Given the description of an element on the screen output the (x, y) to click on. 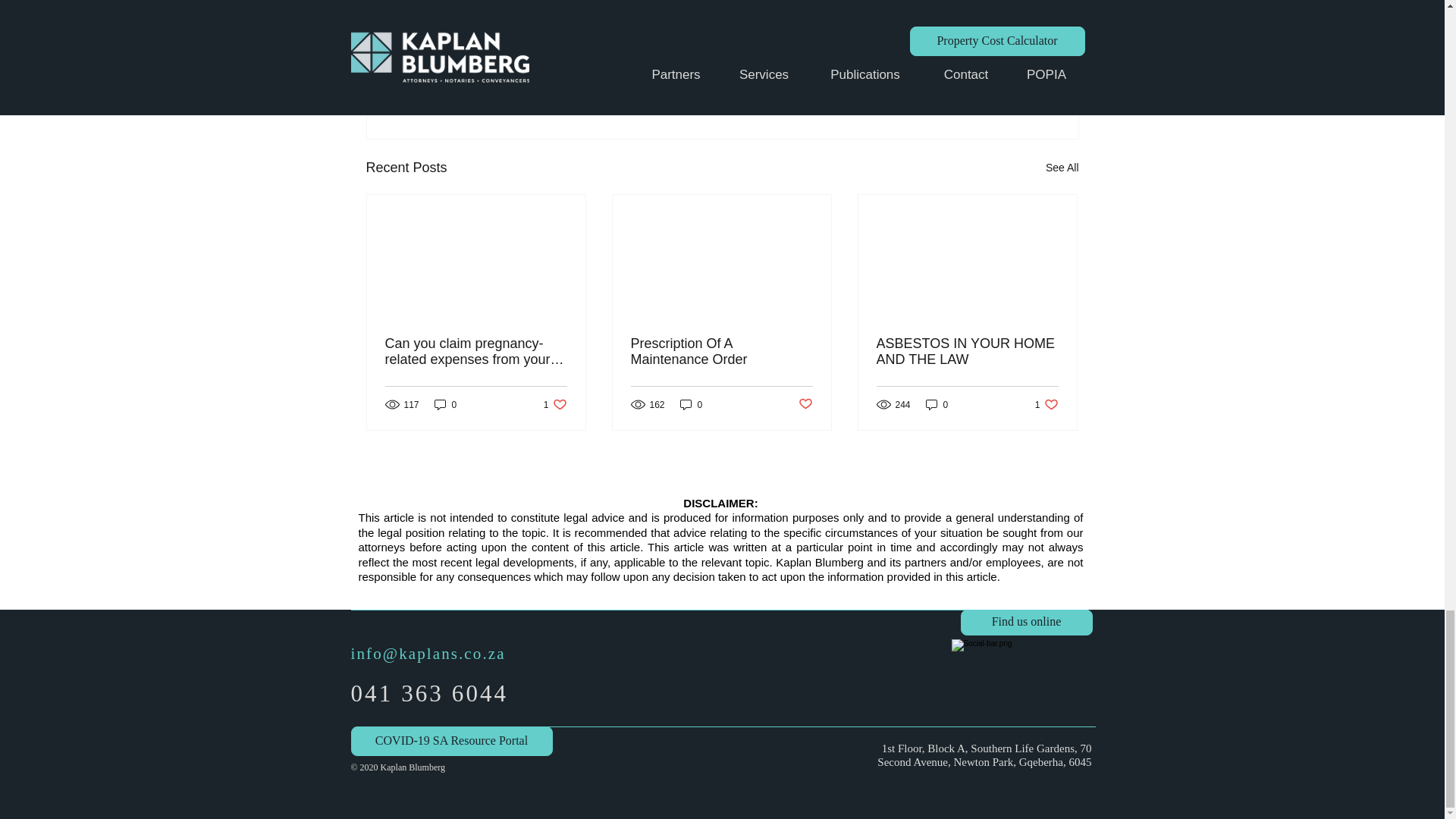
Let's Talk (981, 39)
See All (1061, 168)
0 (555, 404)
0 (937, 404)
Post not marked as liked (445, 404)
ASBESTOS IN YOUR HOME AND THE LAW (995, 84)
0 (967, 351)
Prescription Of A Maintenance Order (691, 404)
Post not marked as liked (721, 351)
